Given the description of an element on the screen output the (x, y) to click on. 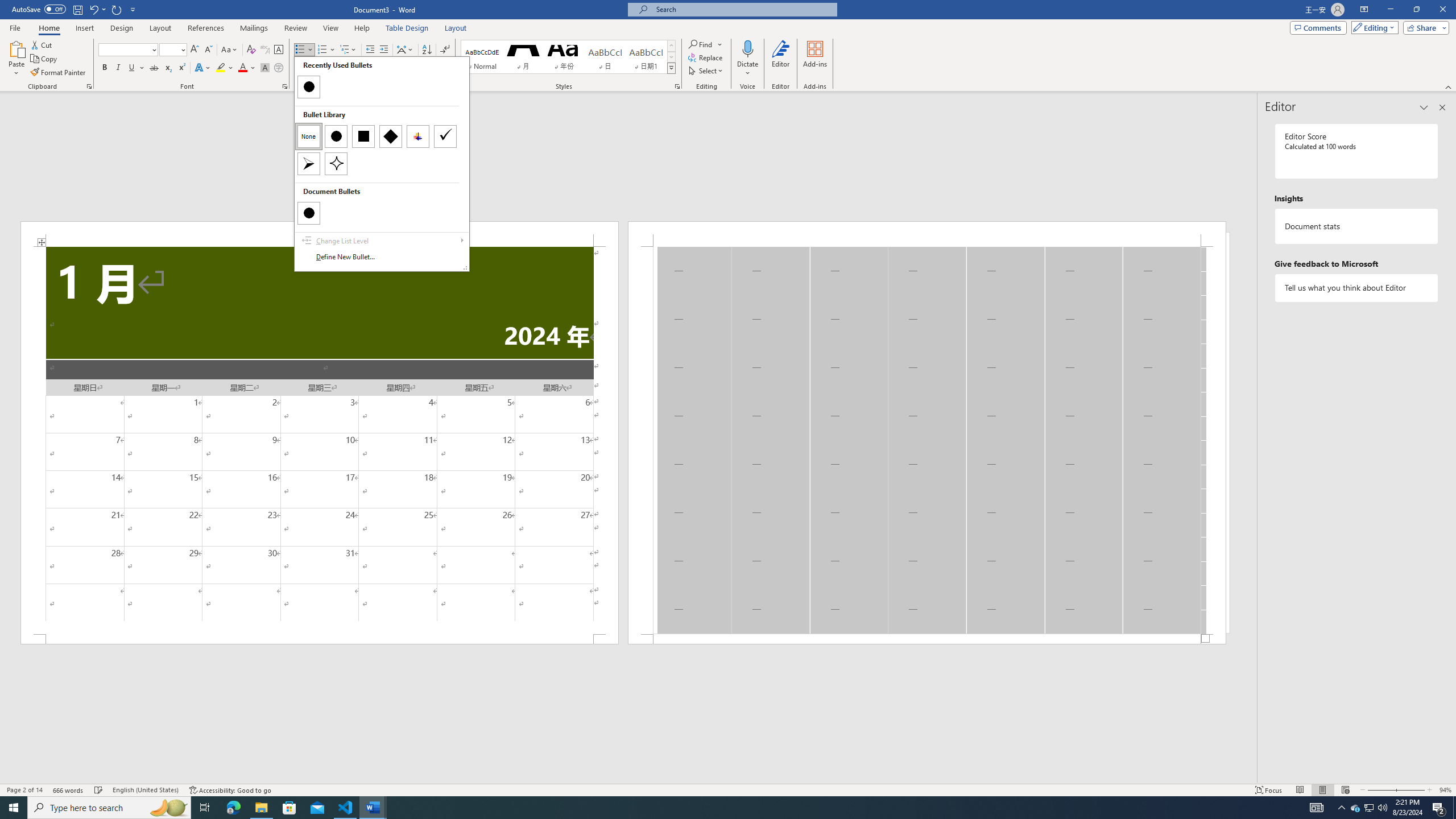
Strikethrough (154, 67)
System (6, 6)
Ribbon Display Options (1364, 9)
Language English (United States) (145, 790)
Text Effects and Typography (202, 67)
Focus  (1268, 790)
Italic (118, 67)
Underline (131, 67)
Replace... (705, 56)
Read Mode (1299, 790)
Close (1442, 9)
